Given the description of an element on the screen output the (x, y) to click on. 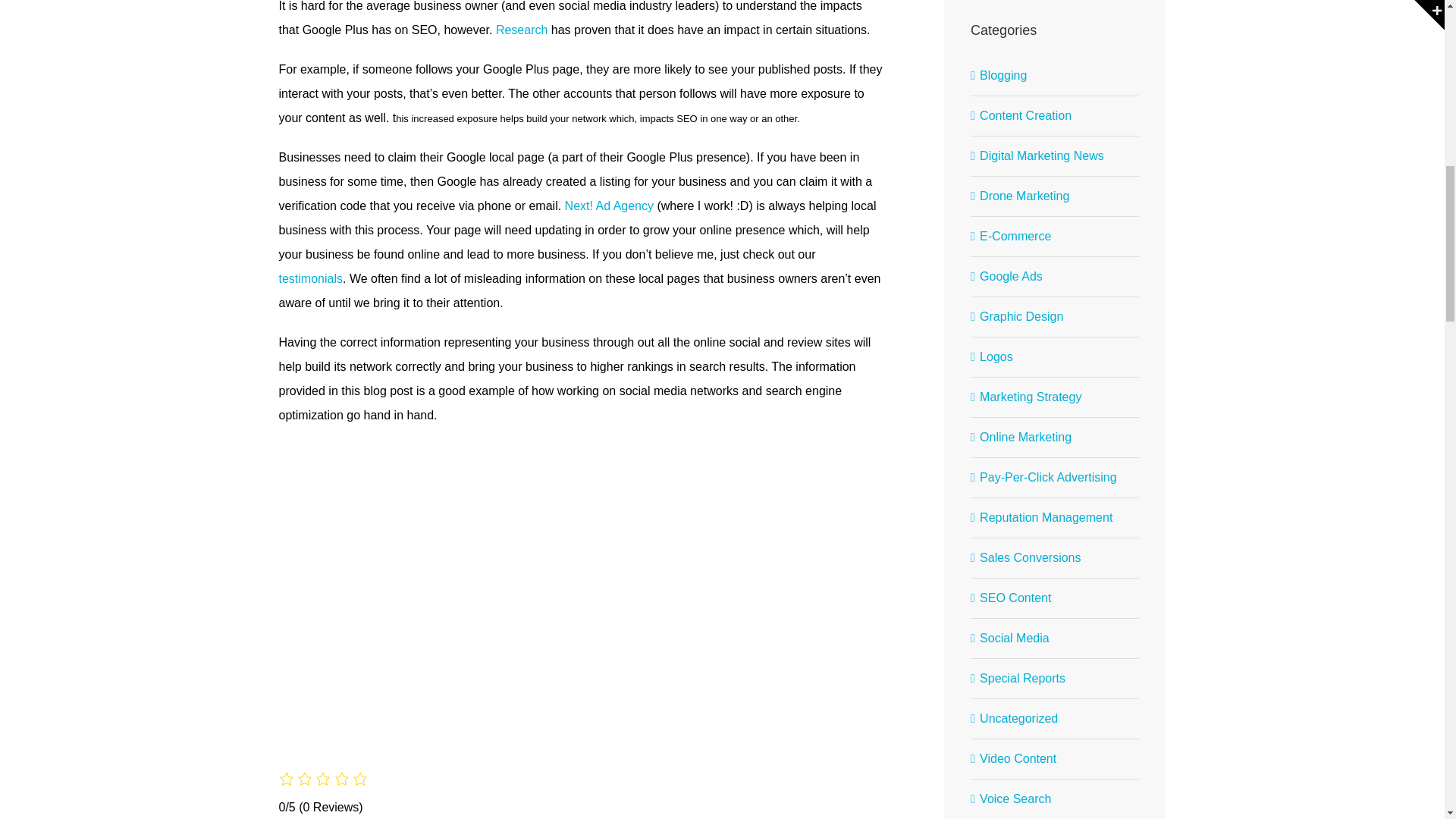
Research (519, 29)
testimonials (310, 278)
Next! Ad Agency (606, 205)
